Given the description of an element on the screen output the (x, y) to click on. 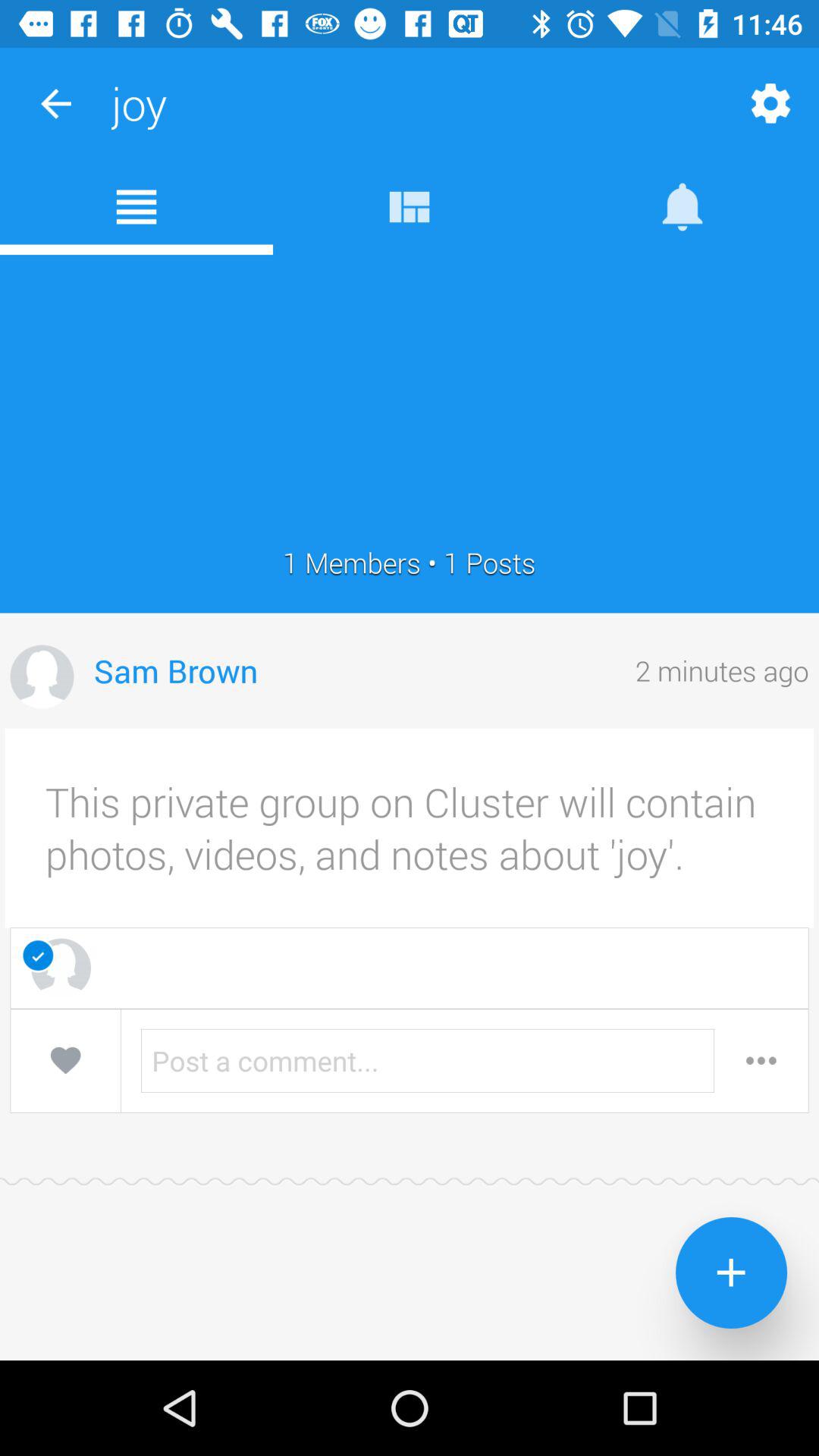
heart the group (65, 1060)
